Given the description of an element on the screen output the (x, y) to click on. 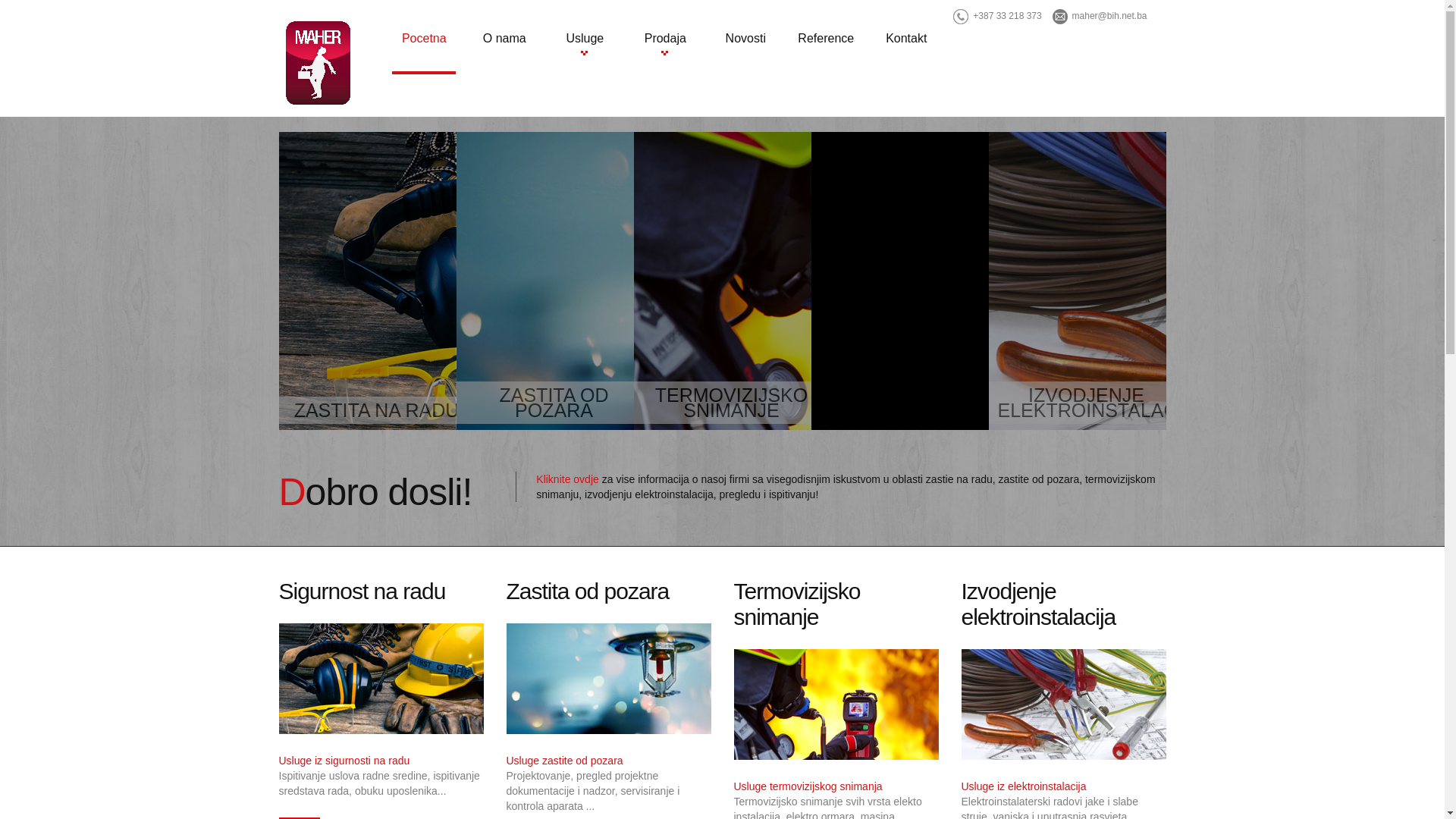
maher@bih.net.ba Element type: text (1109, 15)
Usluge Element type: text (584, 39)
Kliknite ovdje Element type: text (567, 479)
Kontakt Element type: text (906, 39)
Pocetna Element type: text (423, 40)
Maher d.o.o. Sarajevo Element type: hover (318, 62)
O nama Element type: text (504, 39)
Reference Element type: text (825, 39)
Novosti Element type: text (745, 39)
Prodaja Element type: text (664, 39)
